Given the description of an element on the screen output the (x, y) to click on. 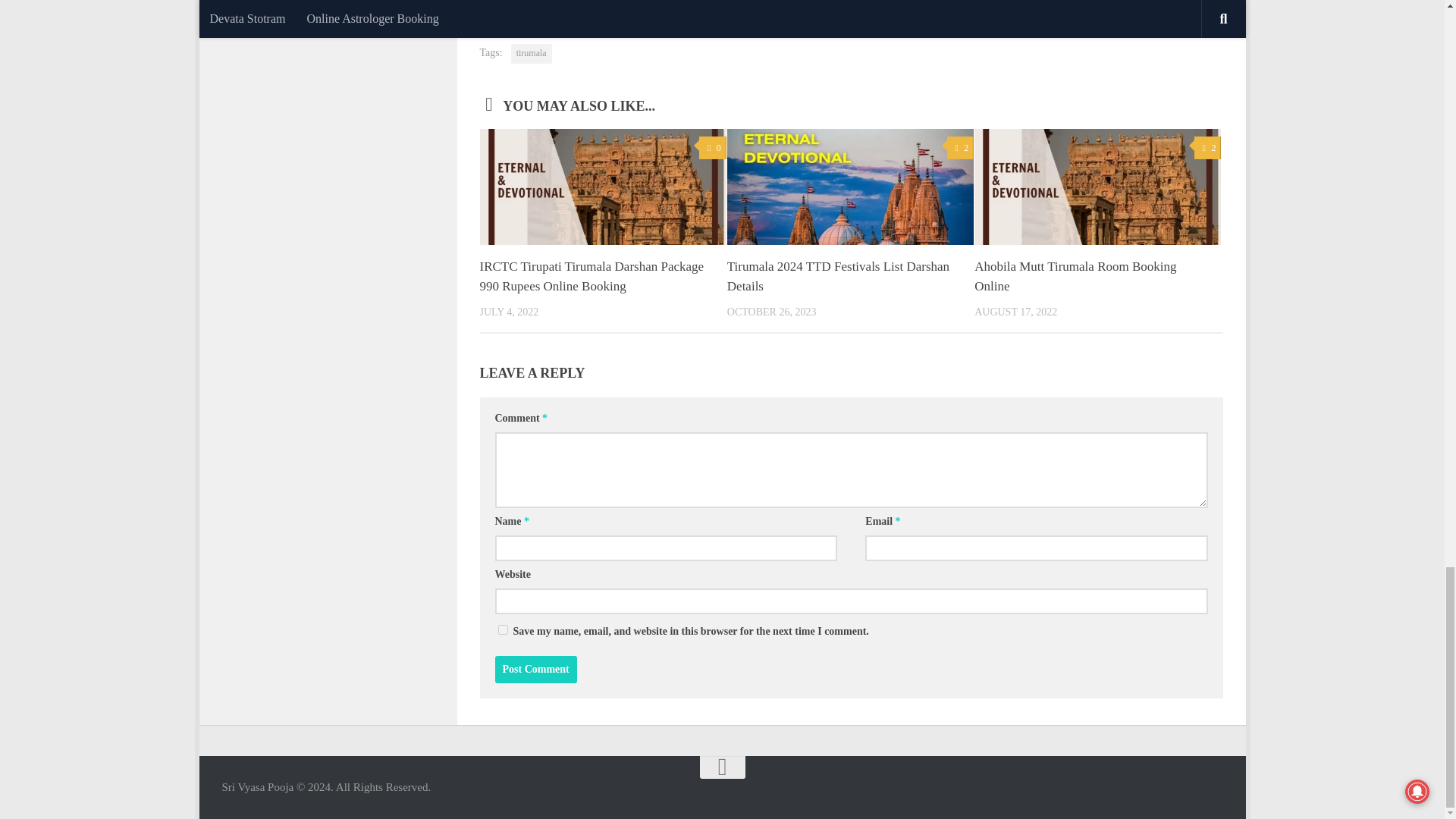
Post Comment (535, 669)
yes (501, 629)
Tirumala 2024 TTD Festivals List Darshan Details (837, 276)
Post Comment (535, 669)
Ahobila Mutt Tirumala Room Booking Online (1075, 276)
0 (711, 147)
2 (960, 147)
tirumala (531, 53)
2 (1207, 147)
